Given the description of an element on the screen output the (x, y) to click on. 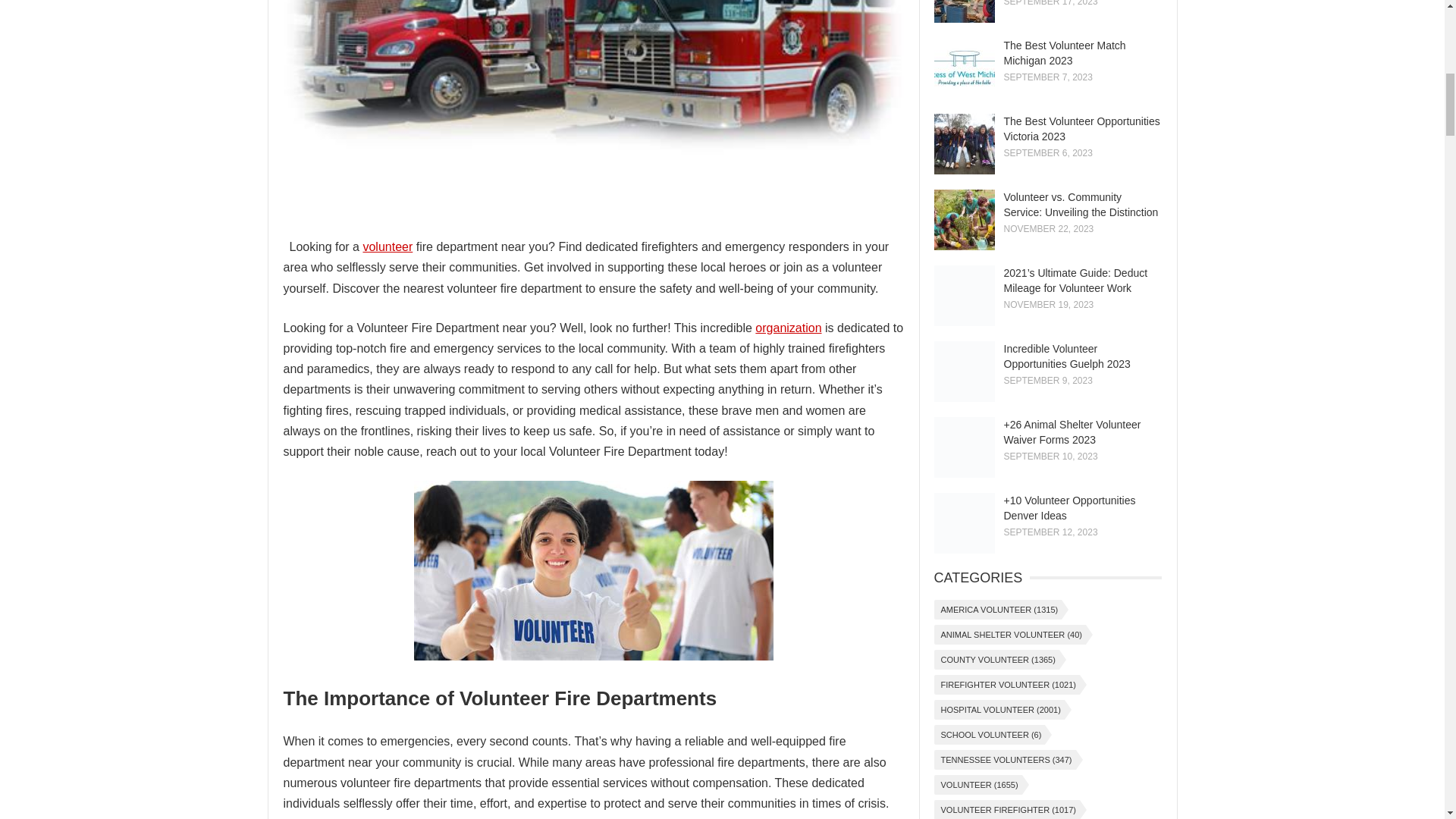
volunteer (387, 246)
